Given the description of an element on the screen output the (x, y) to click on. 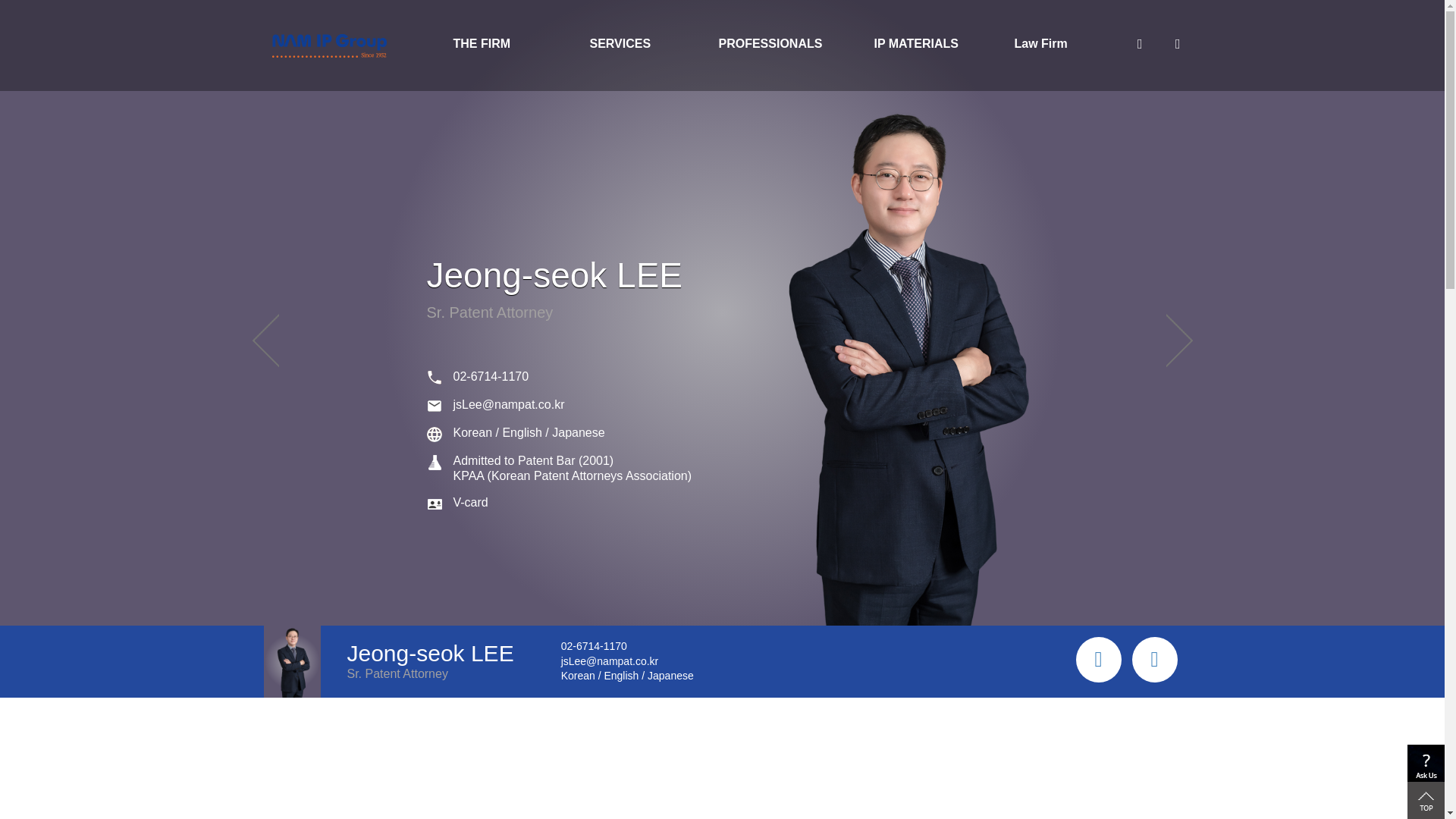
IP MATERIALS (915, 45)
SERVICES (643, 45)
Law Firm (1052, 45)
02-6714-1170 (490, 376)
V-card (469, 502)
THE FIRM (506, 45)
PROFESSIONALS (779, 45)
